Given the description of an element on the screen output the (x, y) to click on. 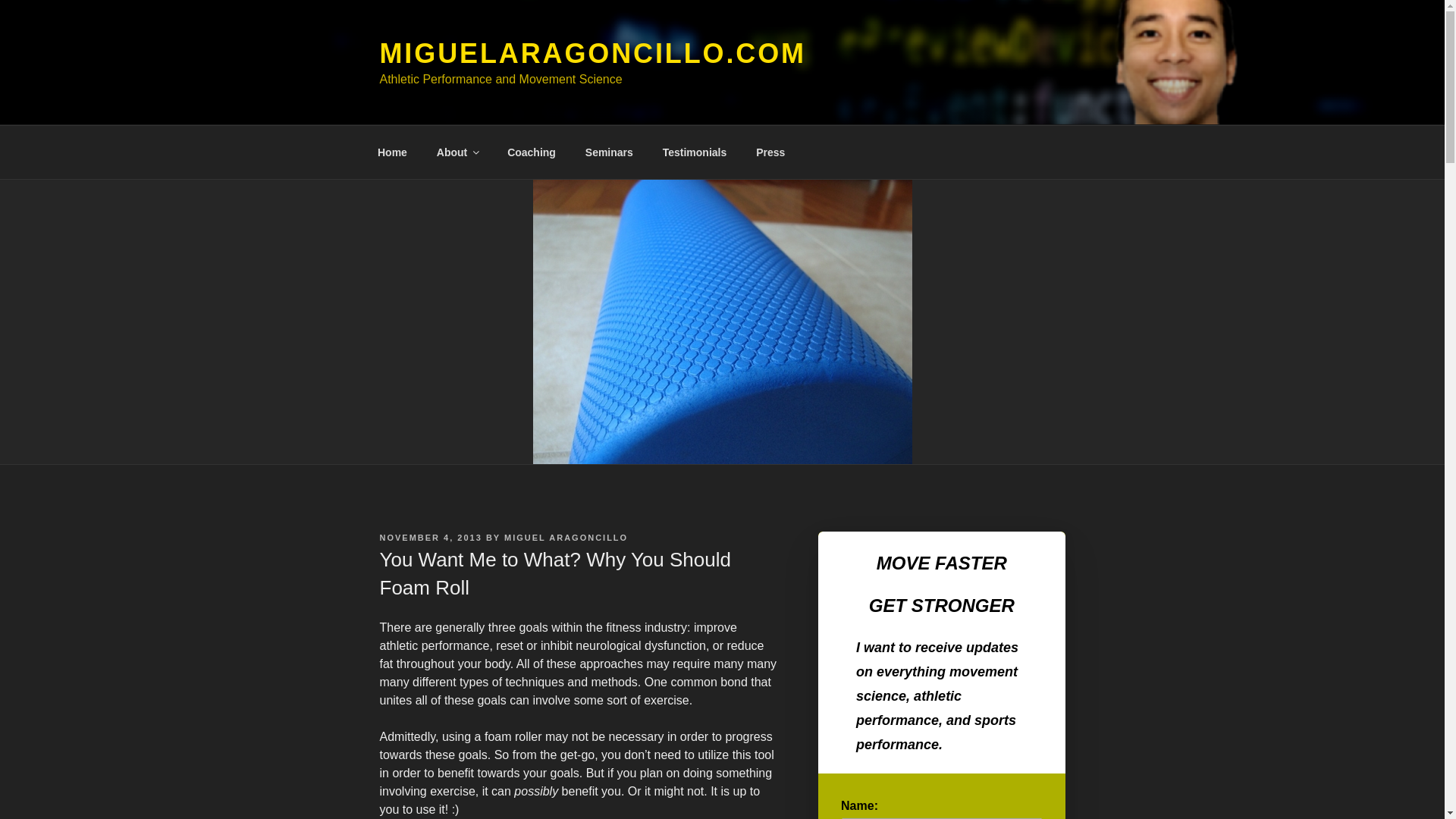
Coaching (532, 151)
Seminars (609, 151)
Home (392, 151)
About (456, 151)
Testimonials (694, 151)
MIGUELARAGONCILLO.COM (591, 52)
Press (769, 151)
NOVEMBER 4, 2013 (429, 537)
MIGUEL ARAGONCILLO (565, 537)
